Given the description of an element on the screen output the (x, y) to click on. 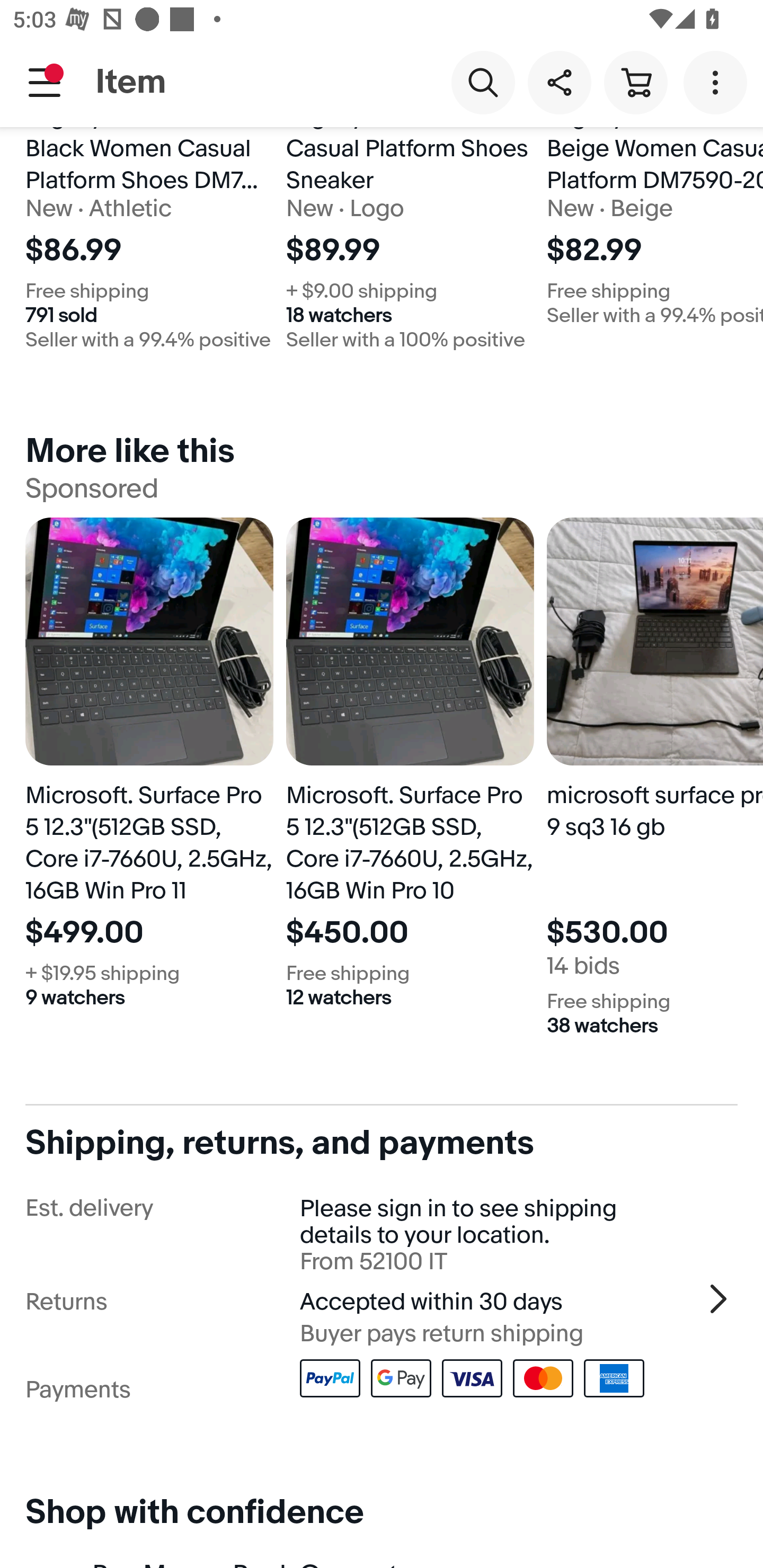
Main navigation, notification is pending, open (44, 82)
Search (482, 81)
Share this item (559, 81)
Cart button shopping cart (635, 81)
More options (718, 81)
